Given the description of an element on the screen output the (x, y) to click on. 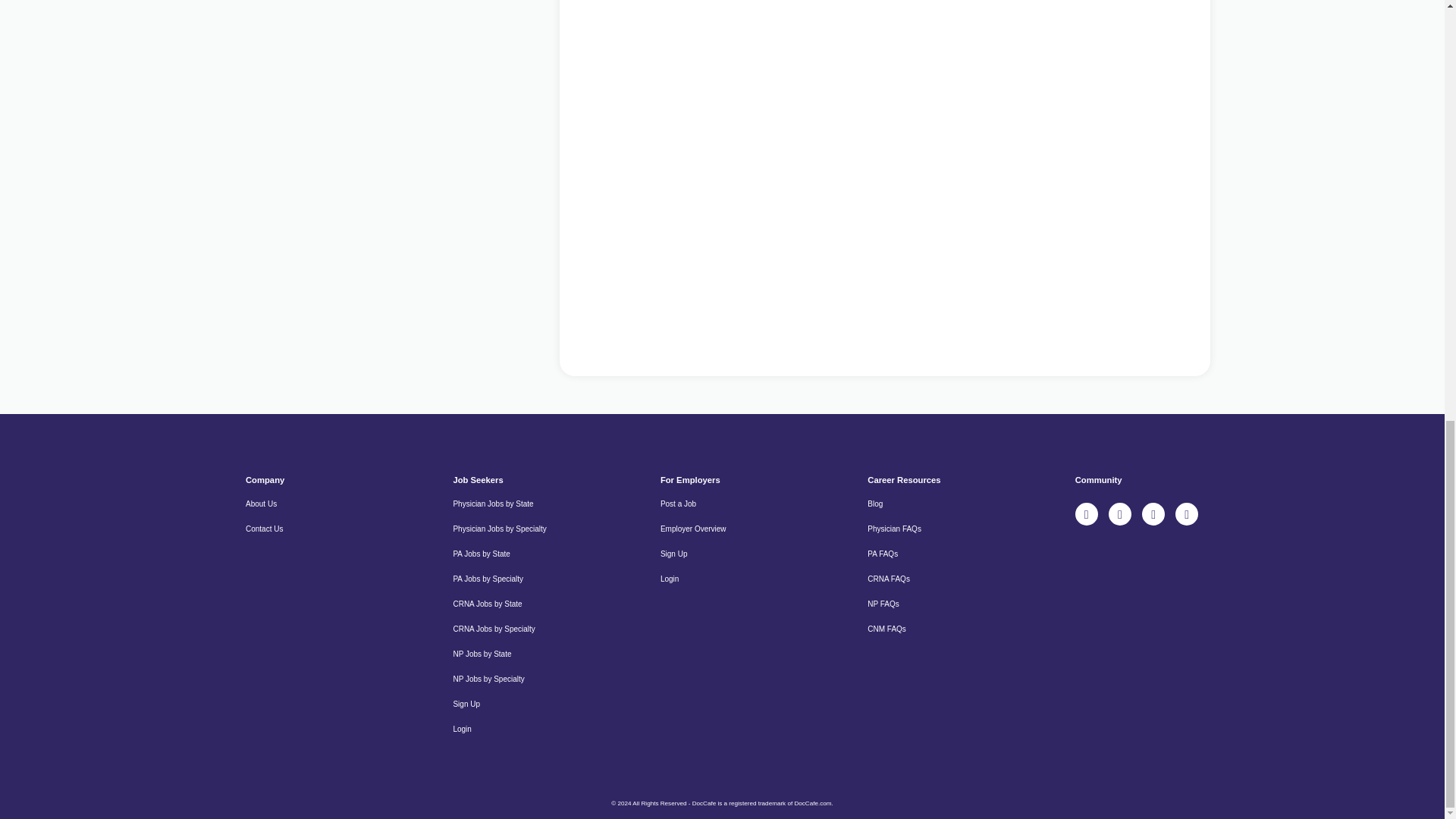
Login (669, 578)
About Us (261, 503)
Physician FAQs (894, 528)
Contact Us (264, 528)
NP Jobs by State (481, 653)
CRNA Jobs by Specialty (493, 628)
Post a Job (678, 503)
Sign Up (674, 554)
CRNA Jobs by State (486, 603)
Sign Up (466, 703)
